Given the description of an element on the screen output the (x, y) to click on. 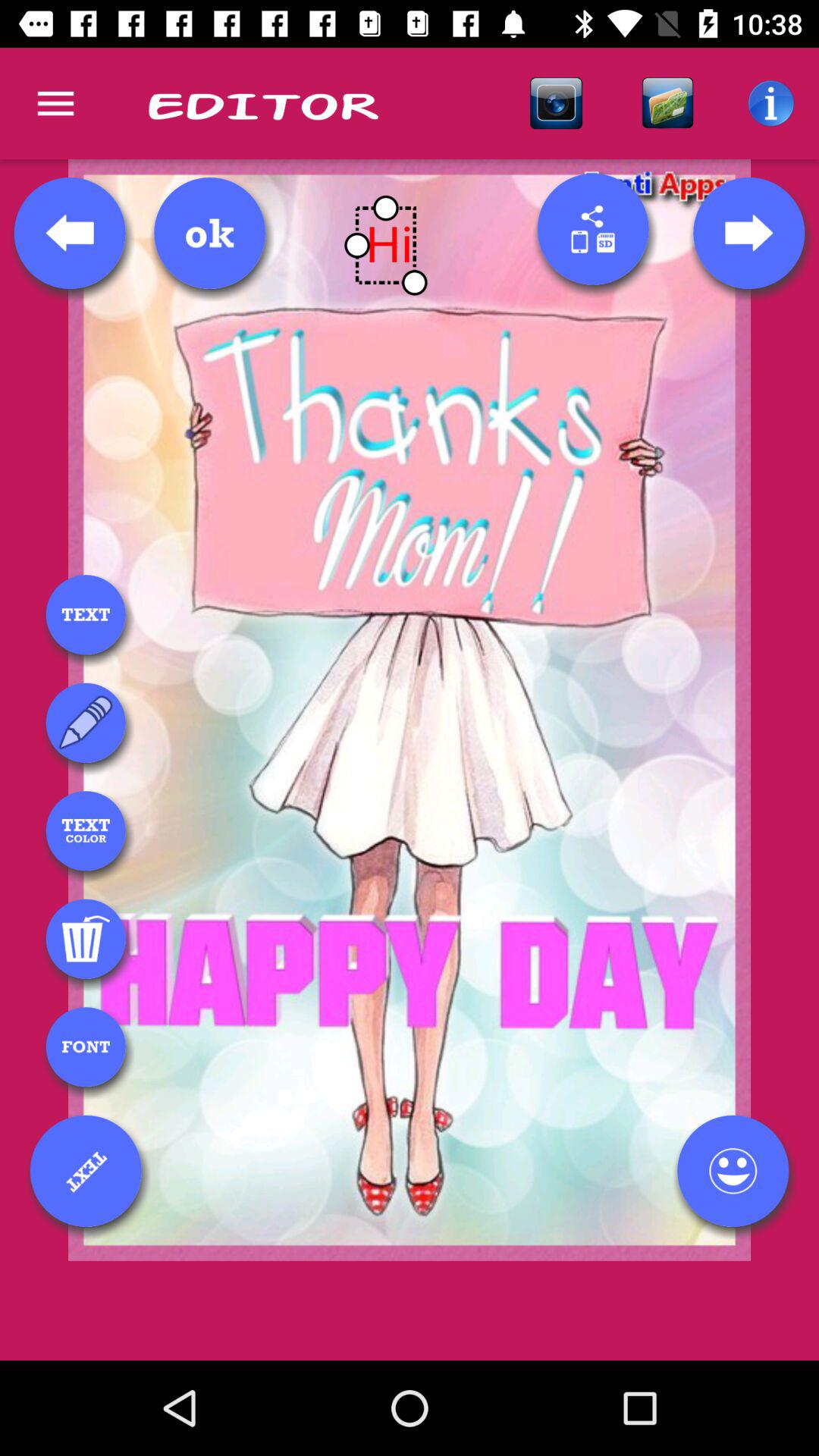
select font type (85, 1047)
